Given the description of an element on the screen output the (x, y) to click on. 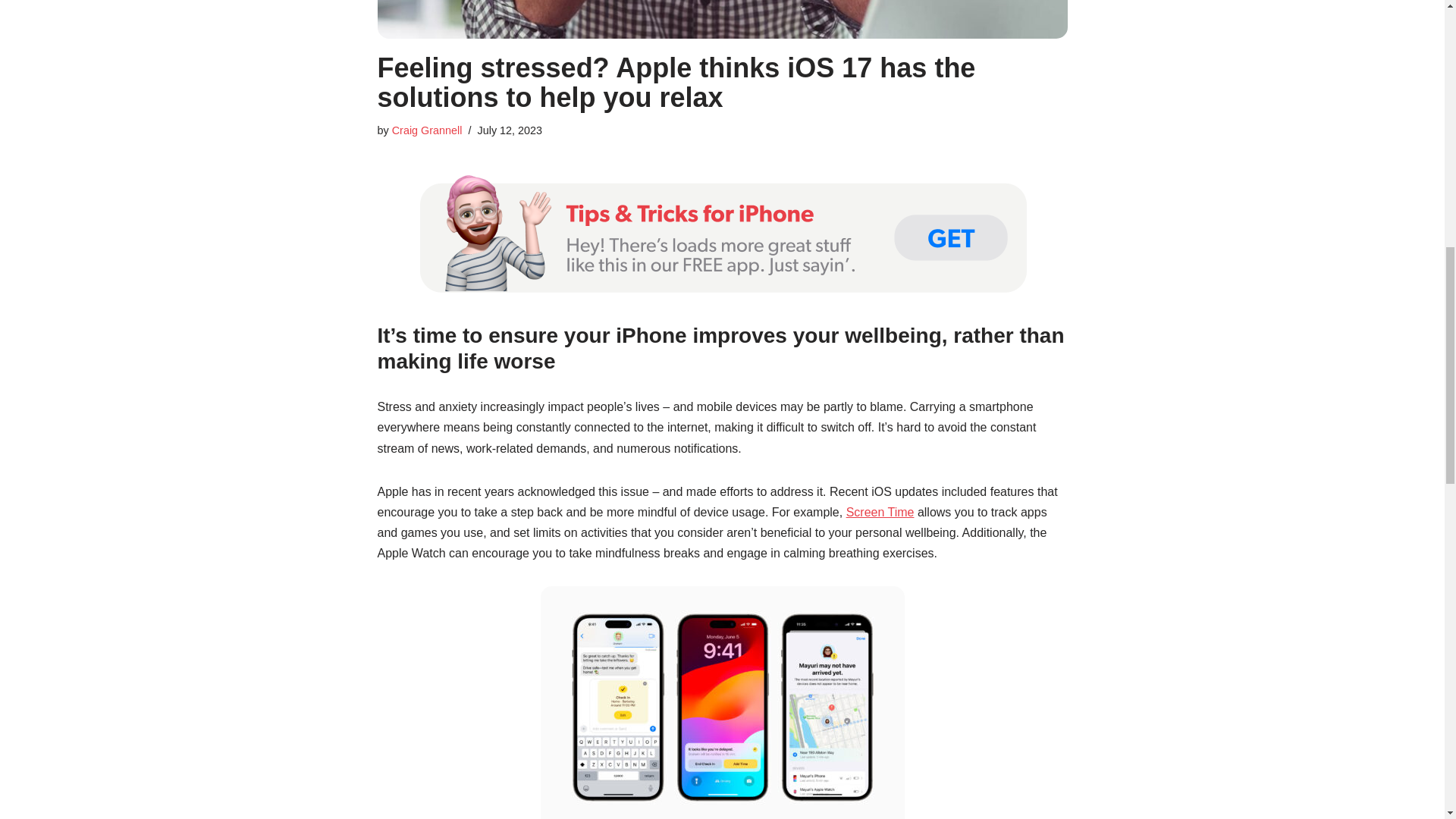
Screen Time (879, 512)
Posts by Craig Grannell (427, 130)
Craig Grannell (427, 130)
